Given the description of an element on the screen output the (x, y) to click on. 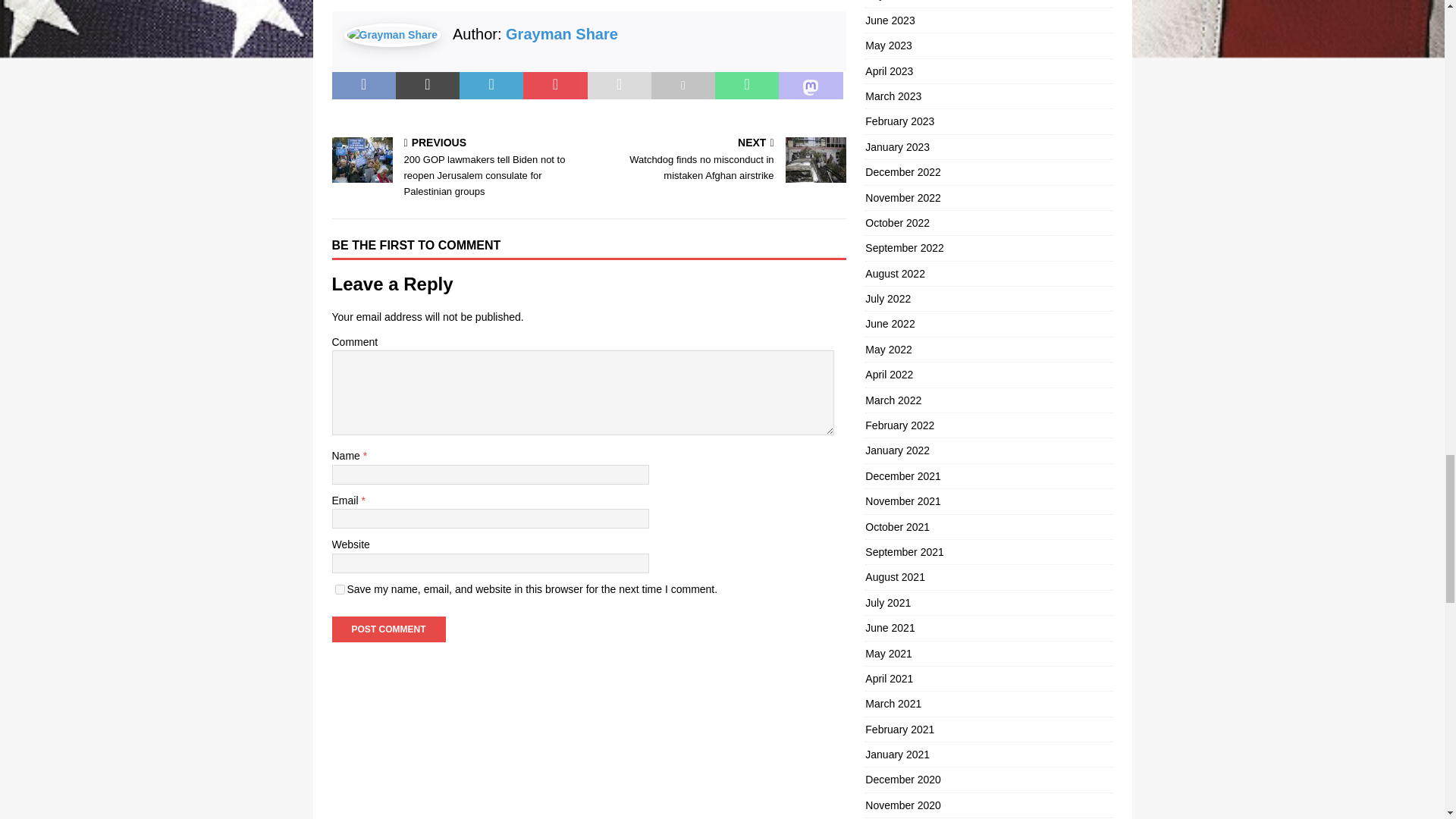
Post Comment (388, 629)
yes (339, 589)
